Given the description of an element on the screen output the (x, y) to click on. 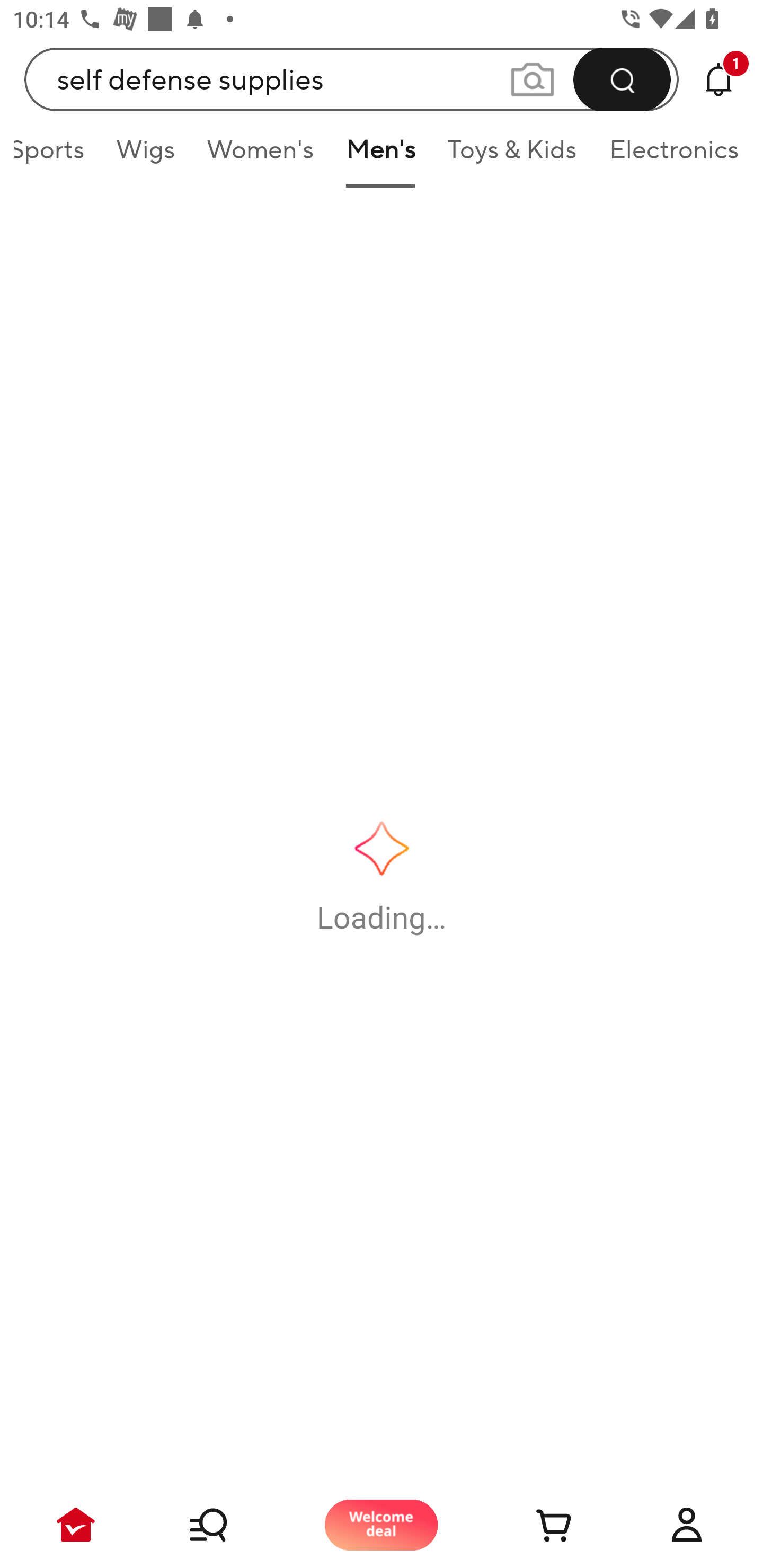
self defense supplies (351, 79)
Sports (56, 155)
Wigs (144, 155)
Women's (260, 155)
Toys & Kids (511, 155)
Electronics (669, 155)
Shop (228, 1524)
Cart (533, 1524)
Account (686, 1524)
